Given the description of an element on the screen output the (x, y) to click on. 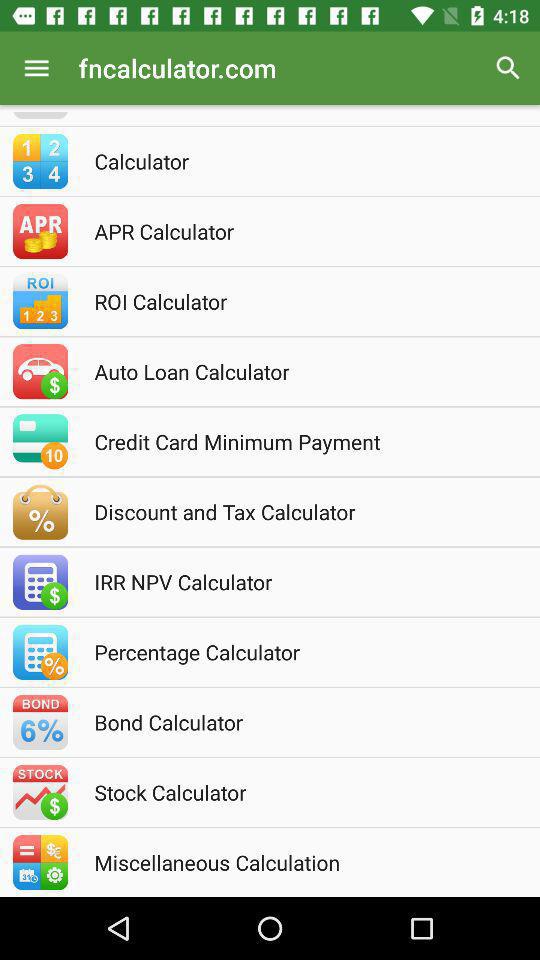
launch the bond calculator icon (297, 722)
